Given the description of an element on the screen output the (x, y) to click on. 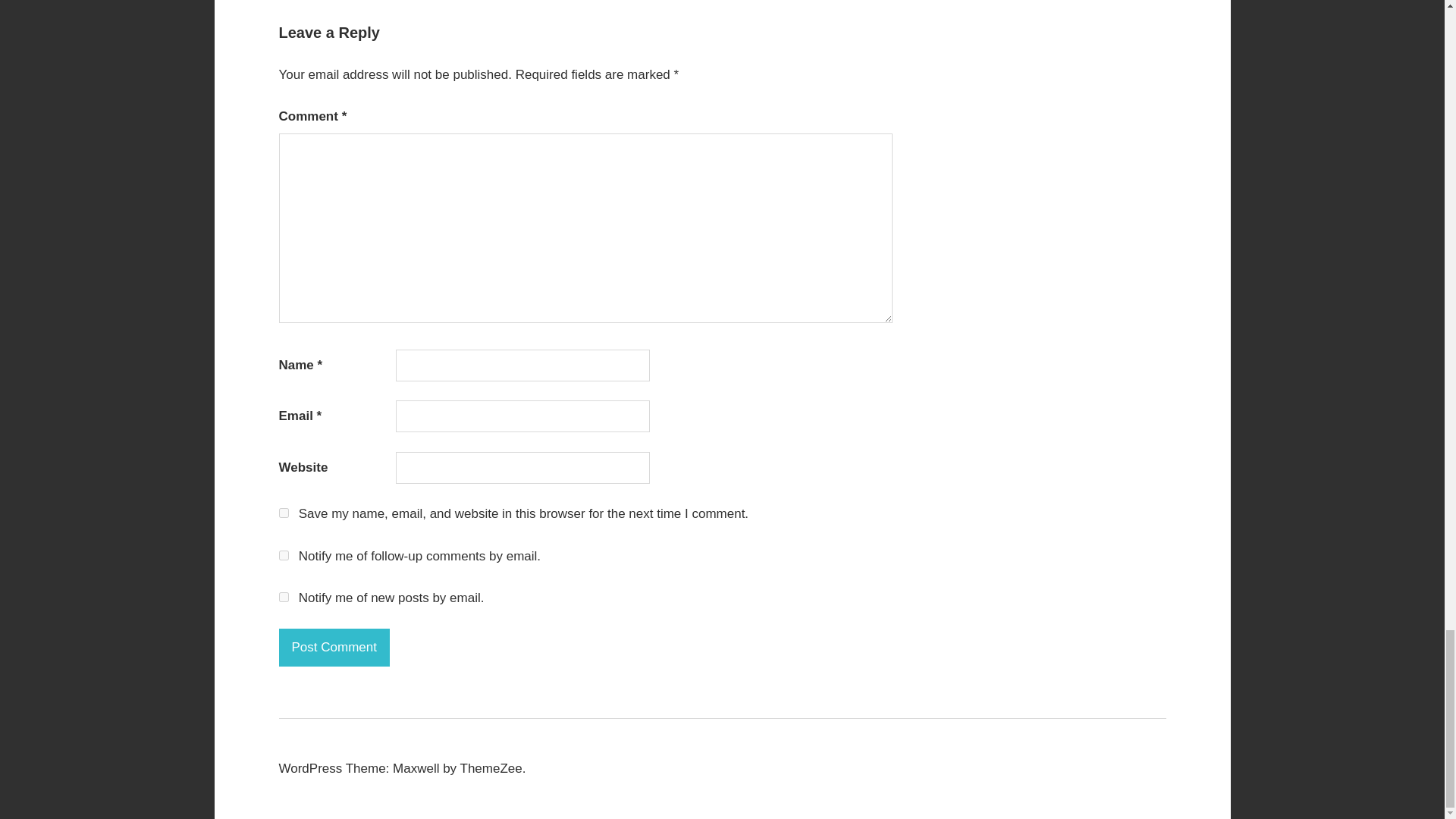
Post Comment (334, 647)
subscribe (283, 596)
subscribe (283, 554)
yes (283, 512)
